Given the description of an element on the screen output the (x, y) to click on. 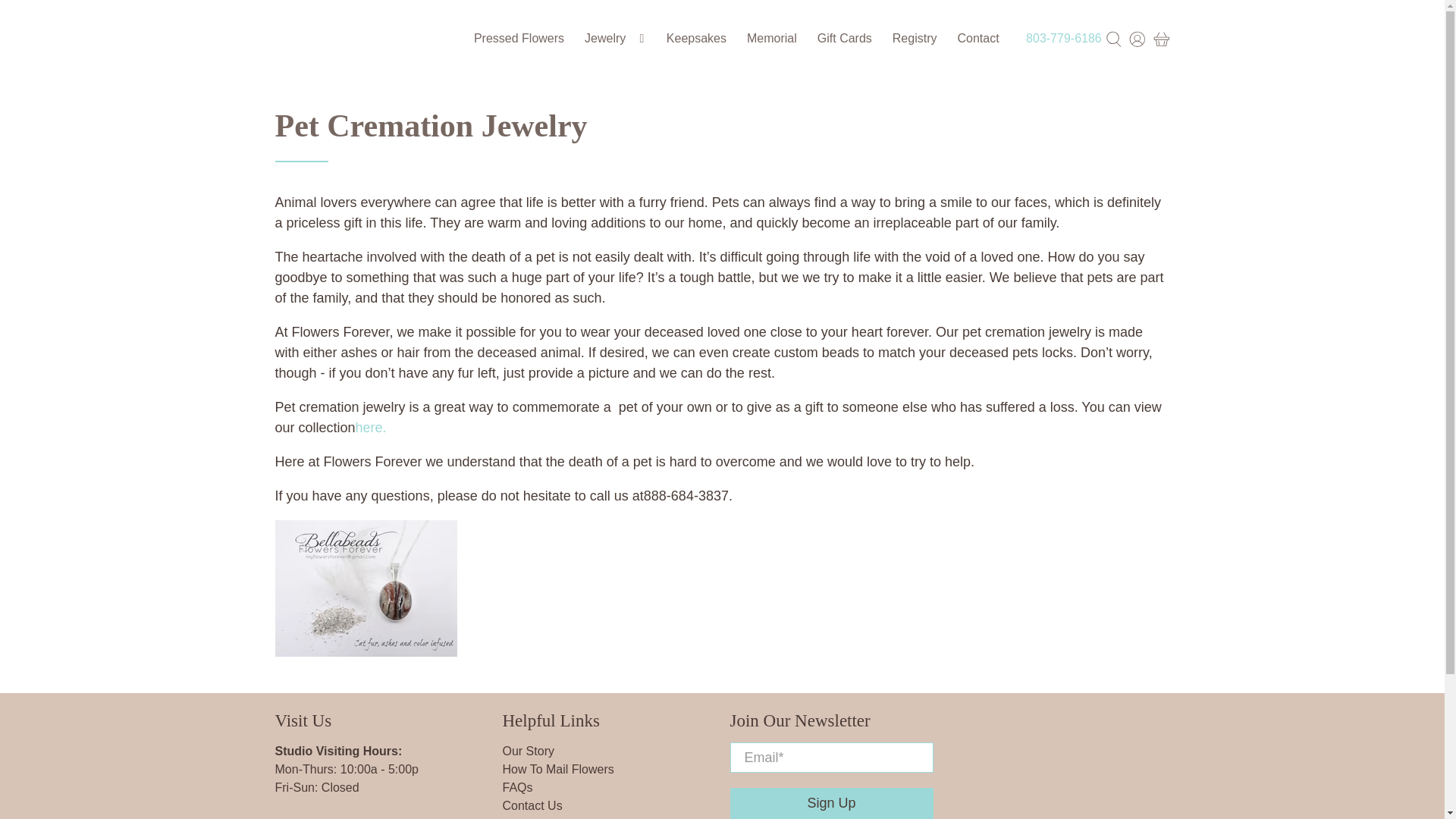
Contact (978, 38)
Keepsakes (696, 38)
Gift Cards (844, 38)
Jewelry (615, 38)
Memorial (772, 38)
Our Story (527, 750)
803-779-6186 (1064, 38)
How To Mail Flowers (557, 768)
Registry (914, 38)
Pressed Flowers (518, 38)
here. (371, 427)
